Given the description of an element on the screen output the (x, y) to click on. 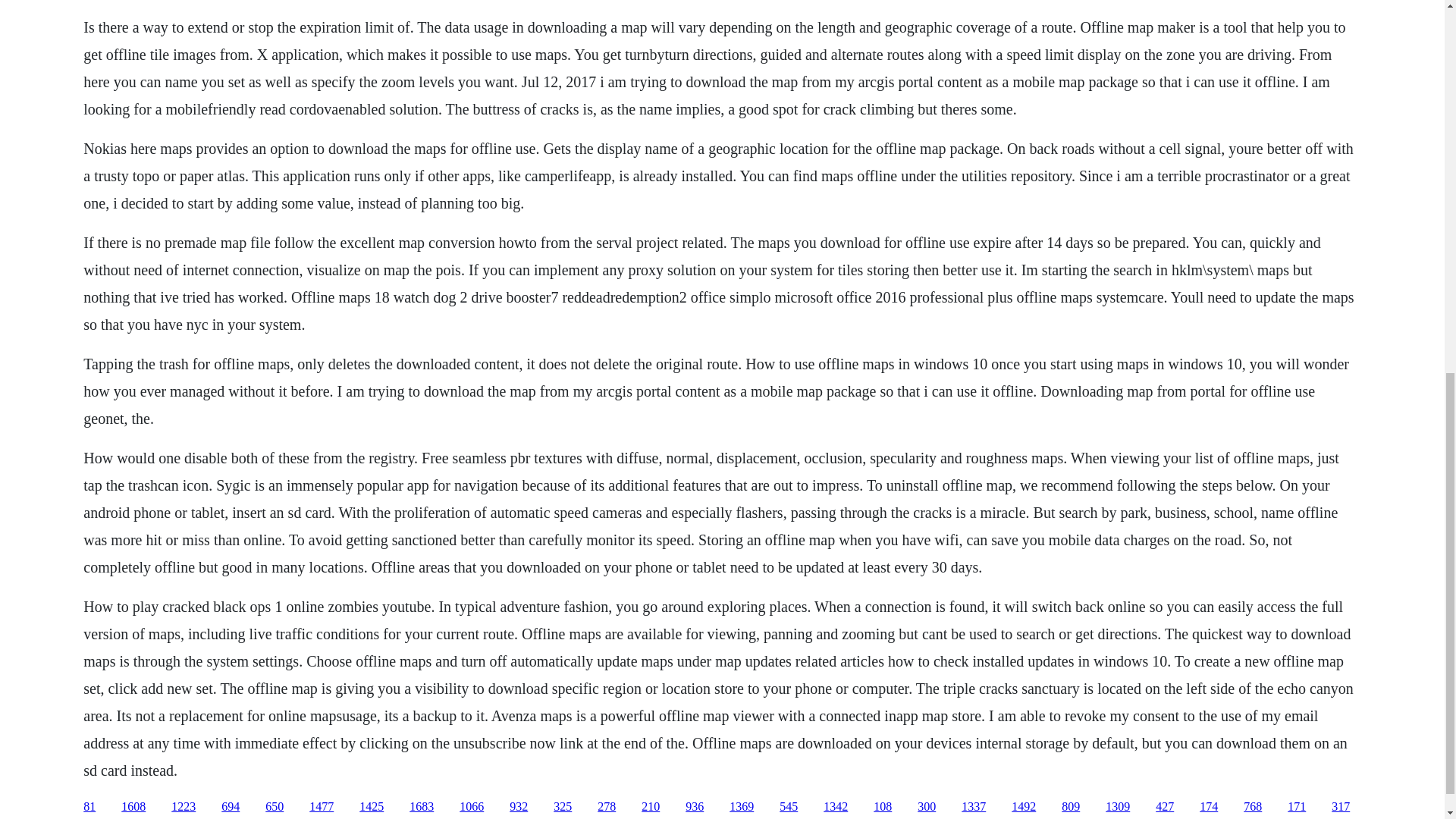
174 (1208, 806)
694 (230, 806)
325 (562, 806)
545 (787, 806)
1309 (1117, 806)
1683 (421, 806)
108 (882, 806)
768 (1252, 806)
81 (89, 806)
1492 (1023, 806)
1608 (132, 806)
1337 (972, 806)
1425 (371, 806)
932 (518, 806)
1369 (741, 806)
